Given the description of an element on the screen output the (x, y) to click on. 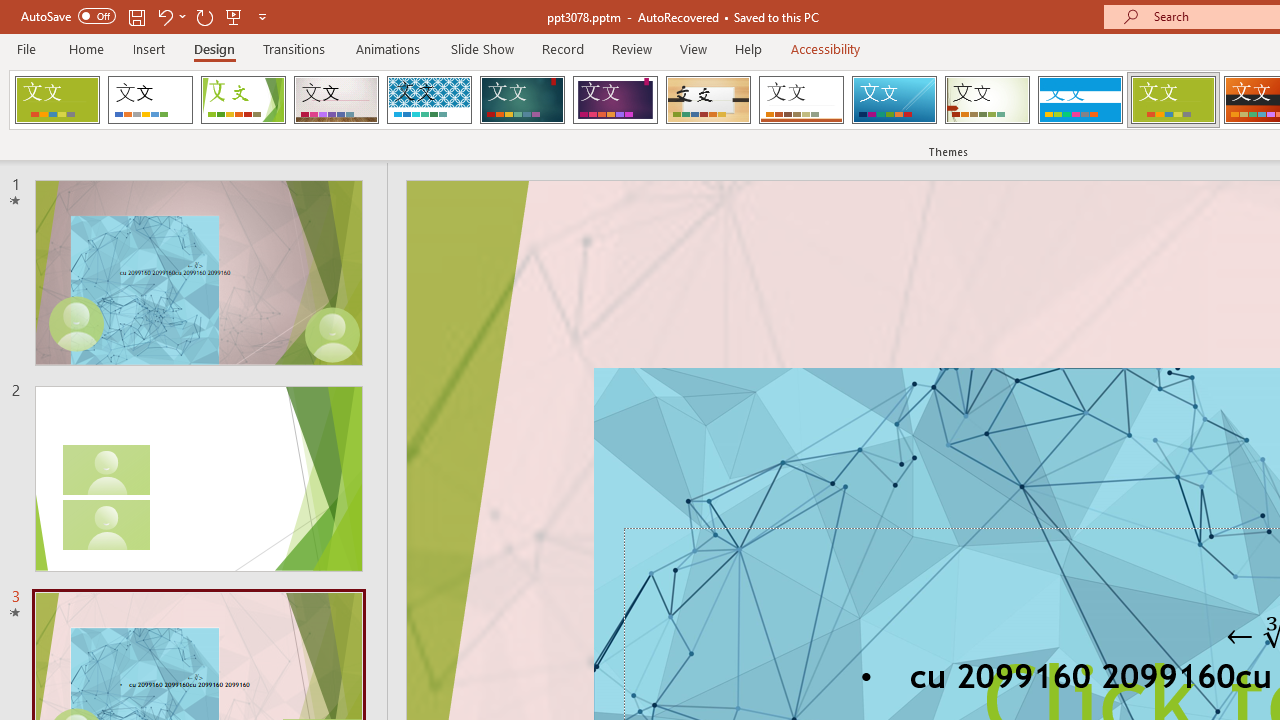
Retrospect (801, 100)
Slice (893, 100)
Ion (522, 100)
Basis (1172, 100)
